Given the description of an element on the screen output the (x, y) to click on. 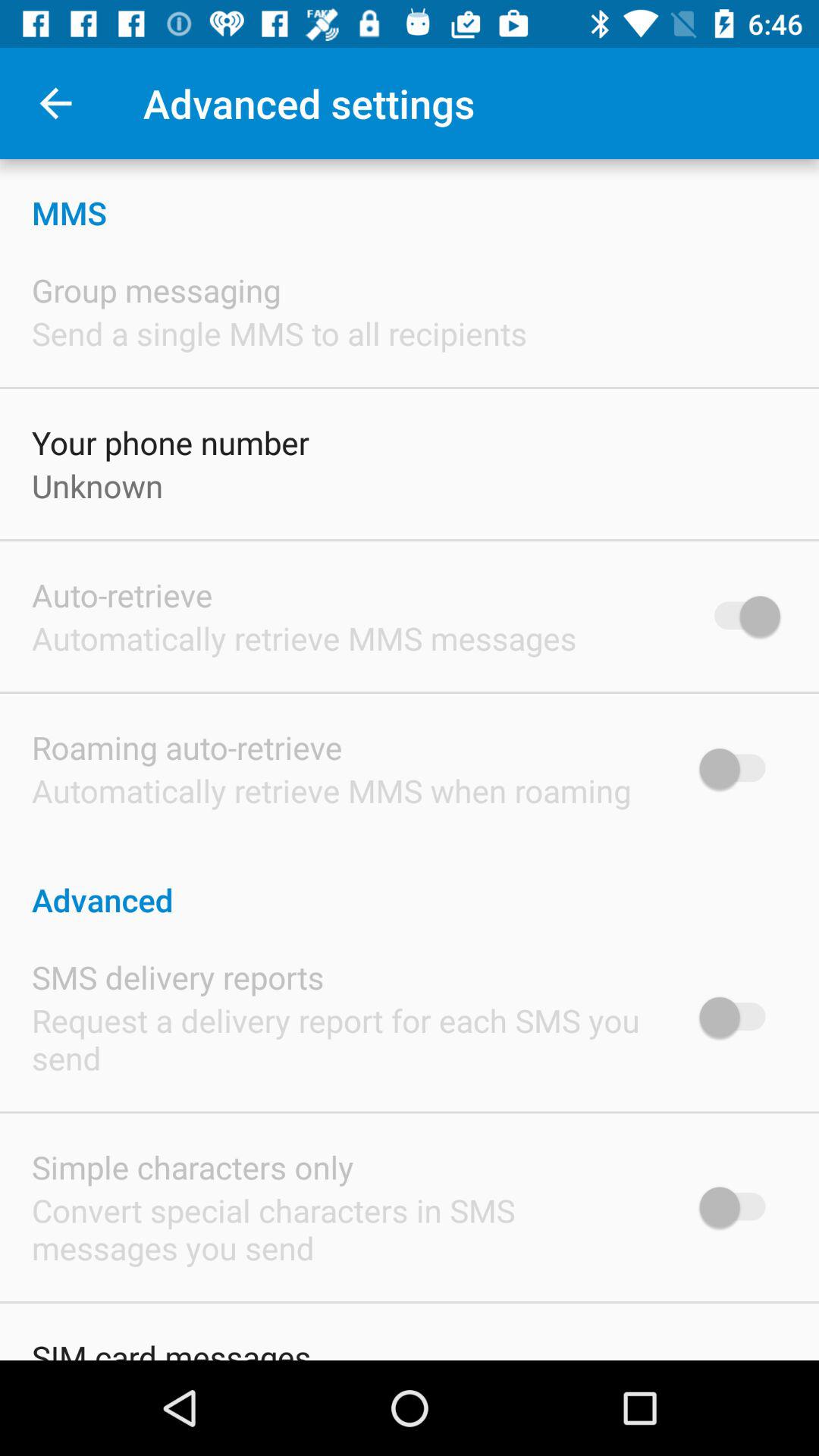
open the icon above the auto-retrieve (97, 485)
